Given the description of an element on the screen output the (x, y) to click on. 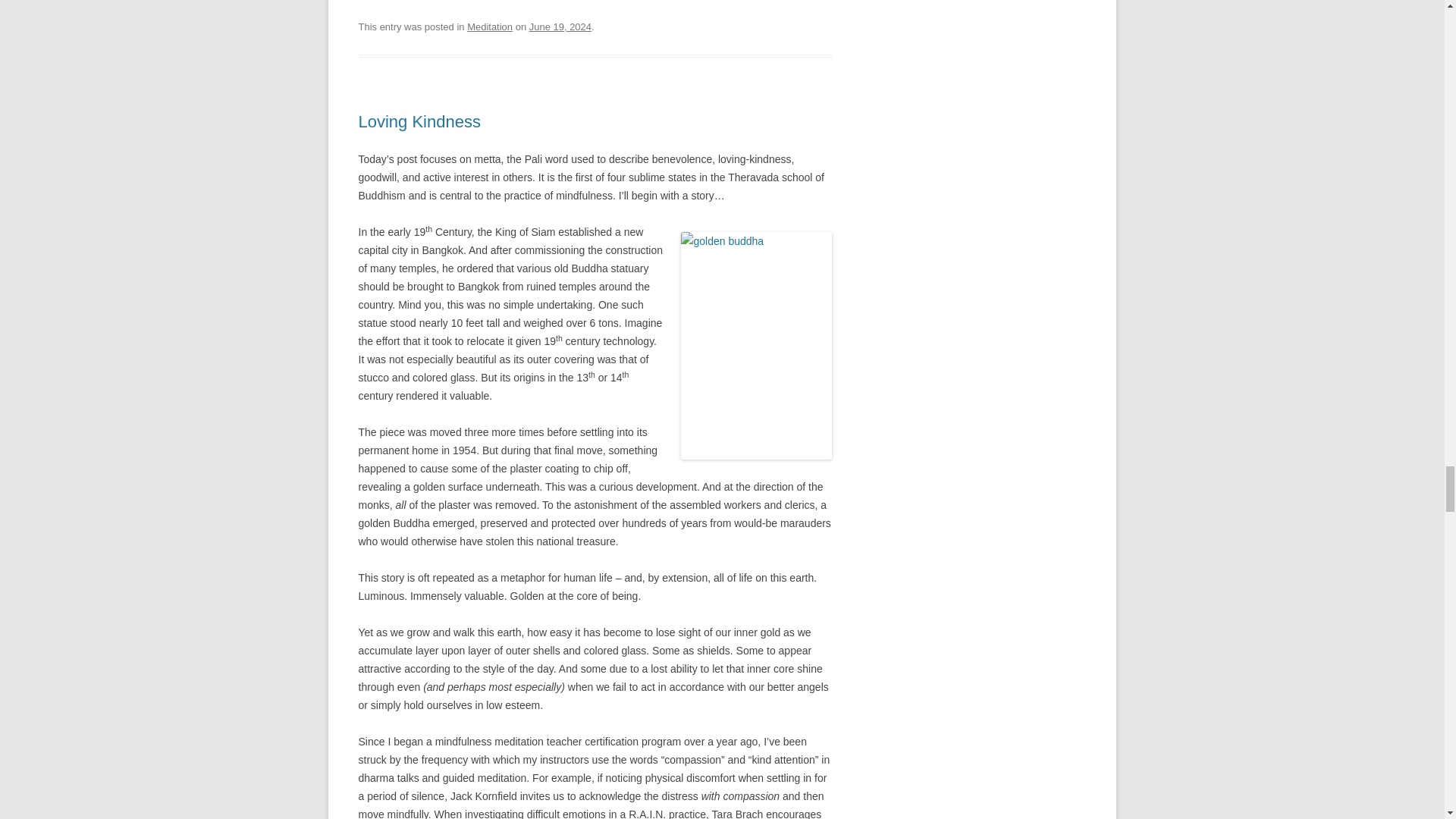
6:00 am (560, 26)
Meditation (489, 26)
June 19, 2024 (560, 26)
